Given the description of an element on the screen output the (x, y) to click on. 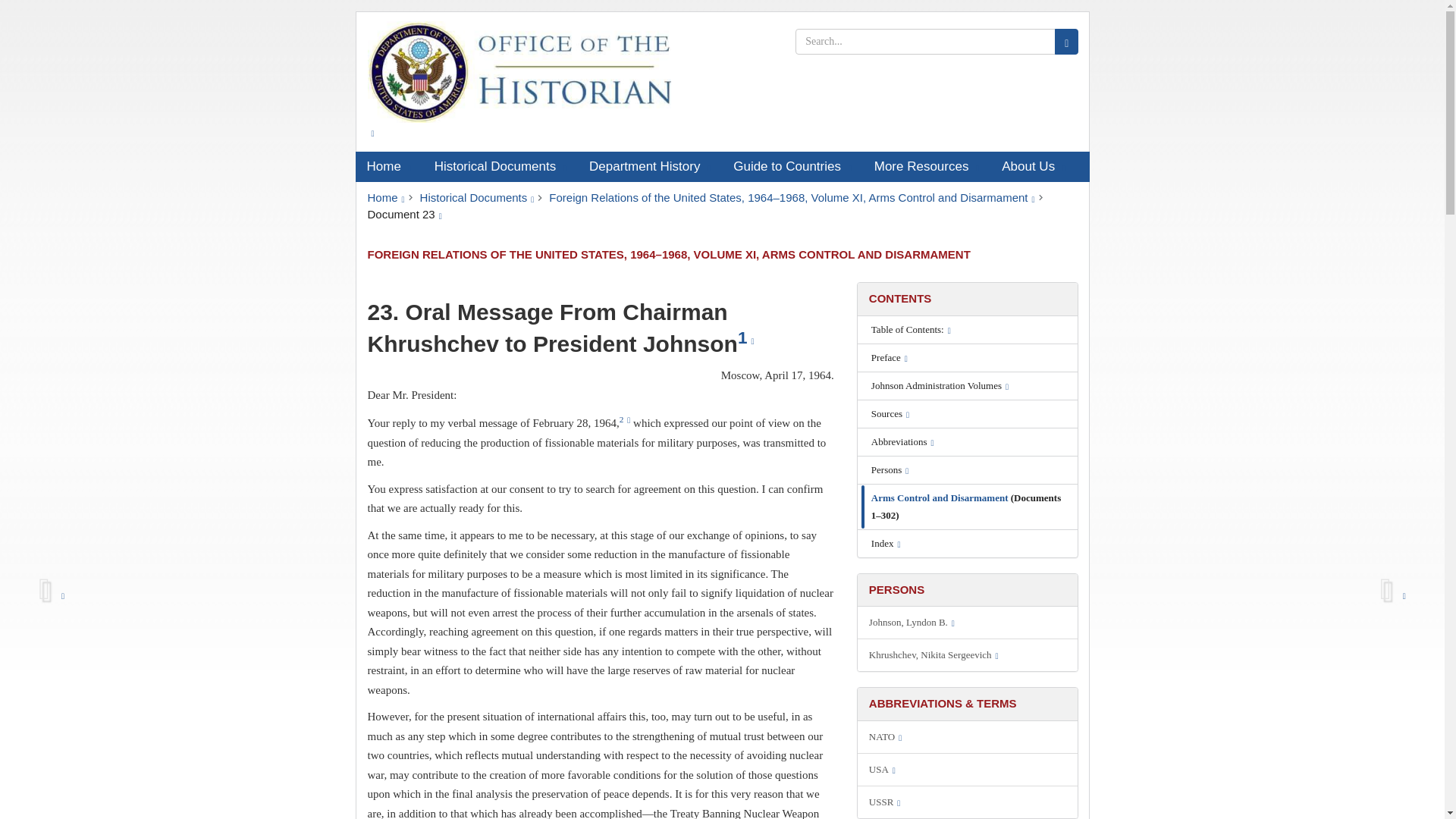
Guide to Countries (792, 166)
Historical Documents (500, 166)
Home (385, 196)
Department History (650, 166)
Home (388, 166)
More Resources (926, 166)
About Us (1033, 166)
Historical Documents (477, 196)
Document 23 (403, 214)
